Given the description of an element on the screen output the (x, y) to click on. 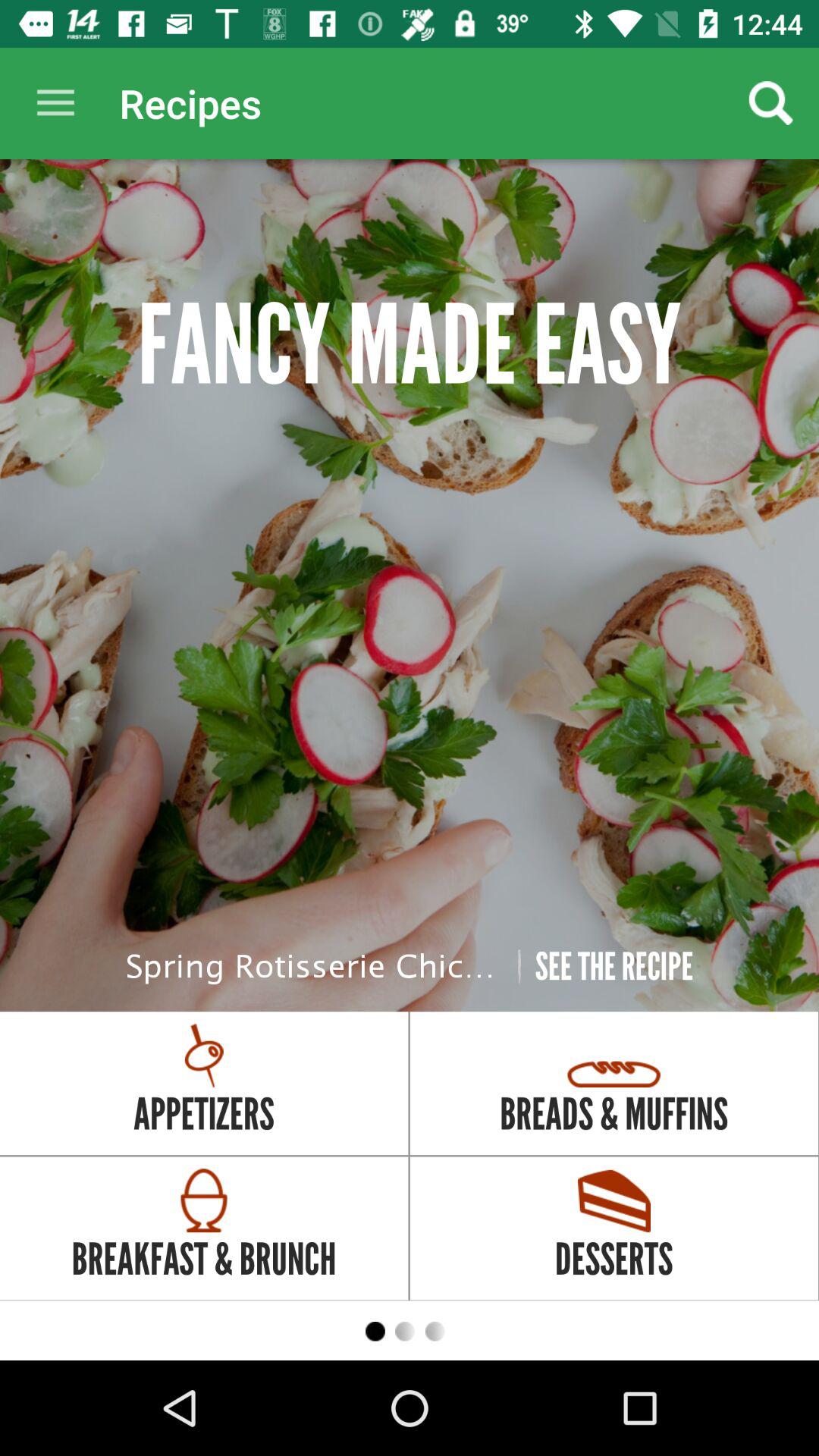
launch the icon at the top right corner (771, 103)
